Given the description of an element on the screen output the (x, y) to click on. 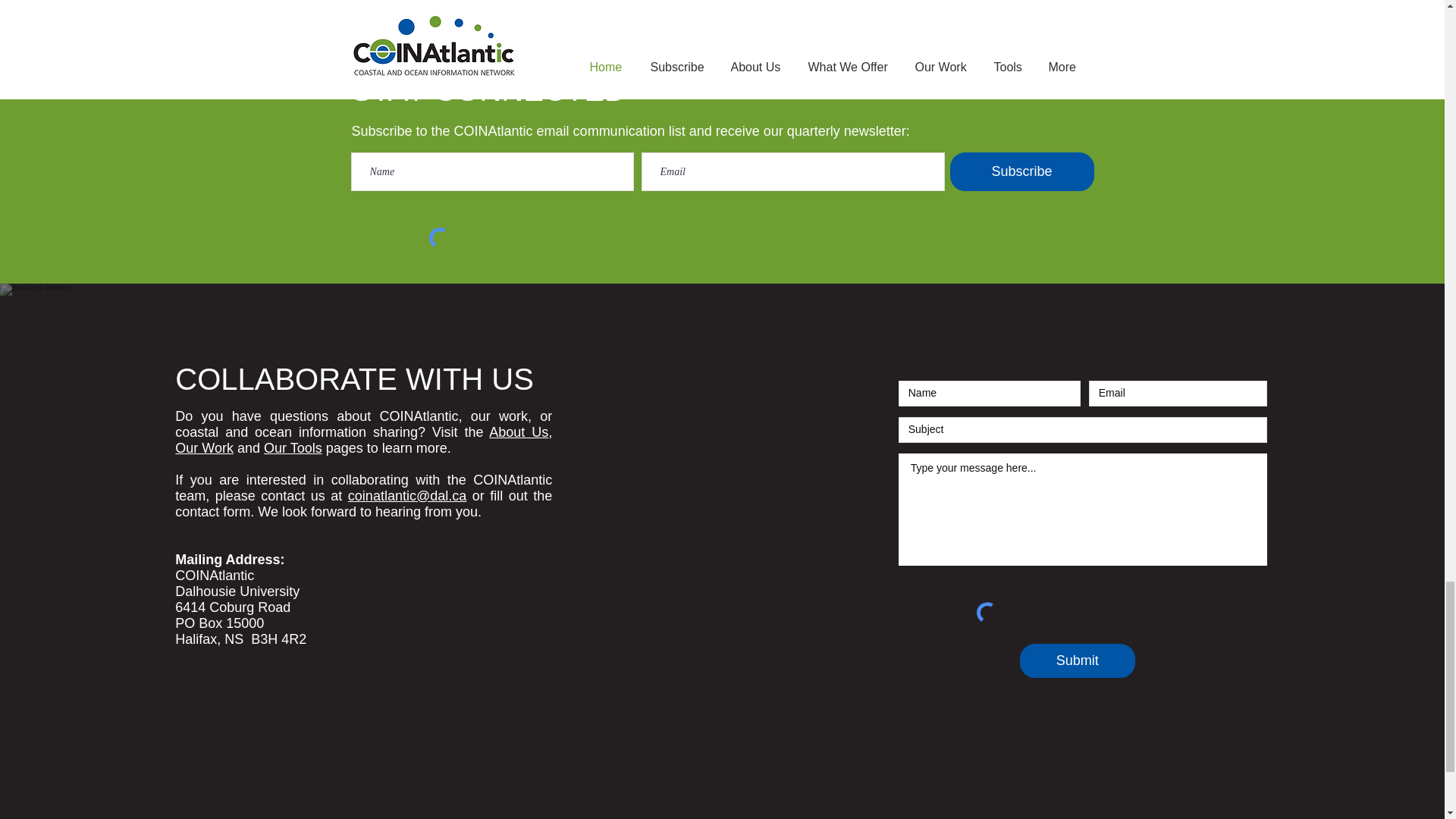
Submit (1077, 660)
Our Work (203, 447)
Subscribe (1021, 171)
About Us (518, 432)
Our Tools (292, 447)
